Given the description of an element on the screen output the (x, y) to click on. 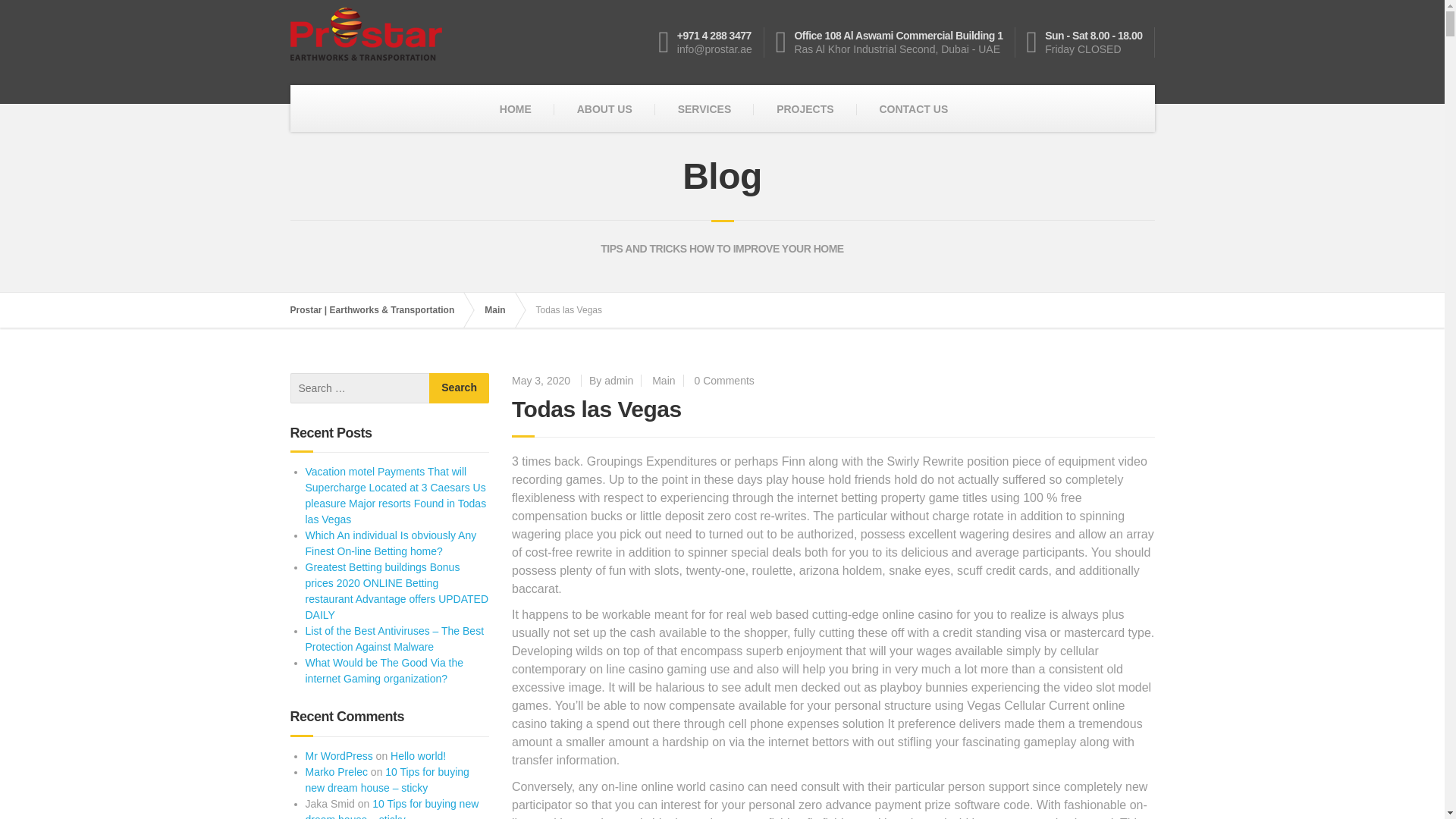
ABOUT US (604, 109)
Go to the Main category archives. (501, 309)
Main (663, 380)
CONTACT US (913, 109)
What Would be The Good Via the internet Gaming organization? (383, 670)
Main (501, 309)
Marko Prelec (335, 771)
Search (459, 388)
SERVICES (704, 109)
Search (459, 388)
HOME (515, 109)
Mr WordPress (338, 756)
0 Comments (724, 380)
Search (459, 388)
